Given the description of an element on the screen output the (x, y) to click on. 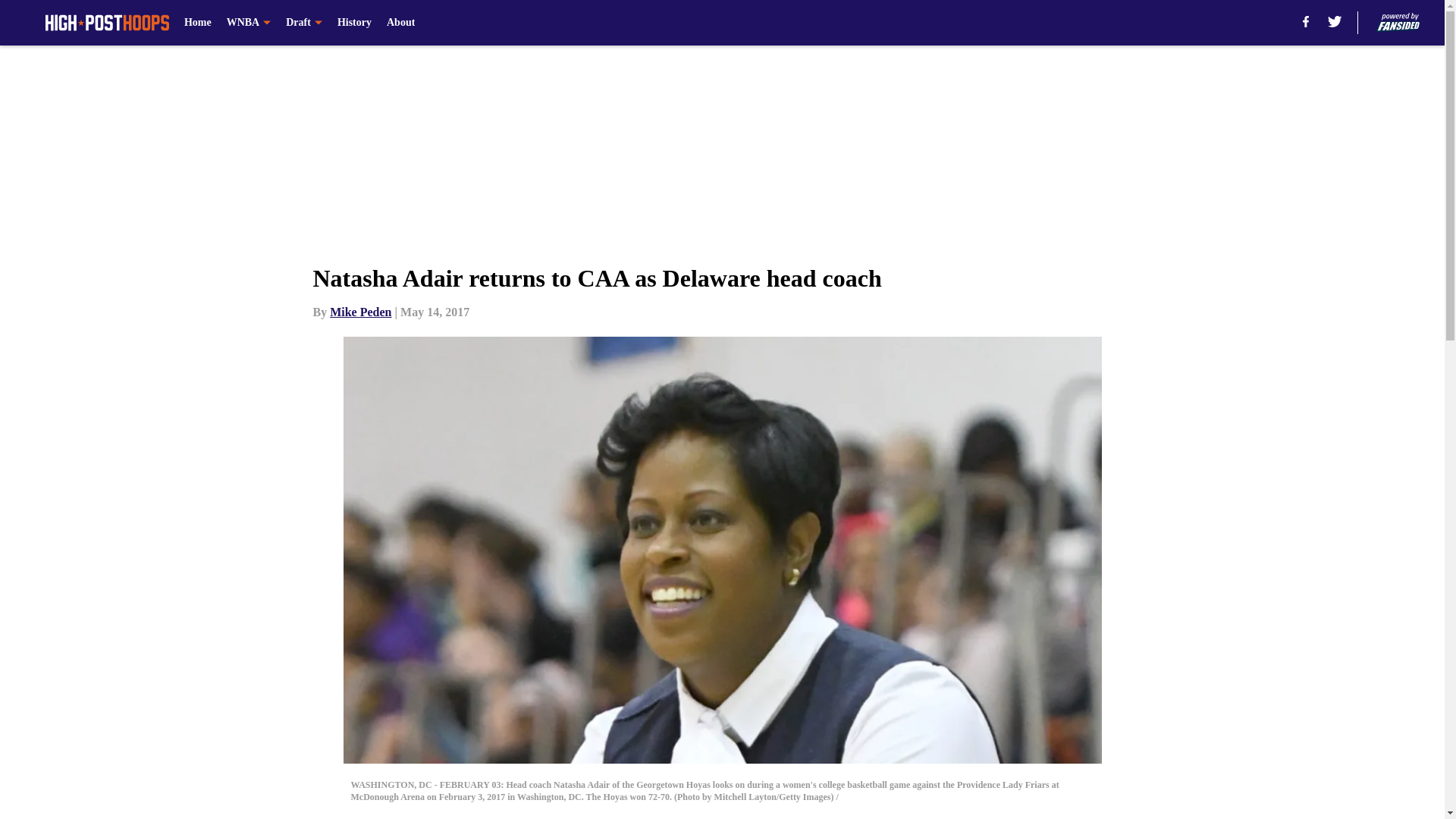
About (400, 22)
History (354, 22)
Mike Peden (360, 311)
Home (197, 22)
